Given the description of an element on the screen output the (x, y) to click on. 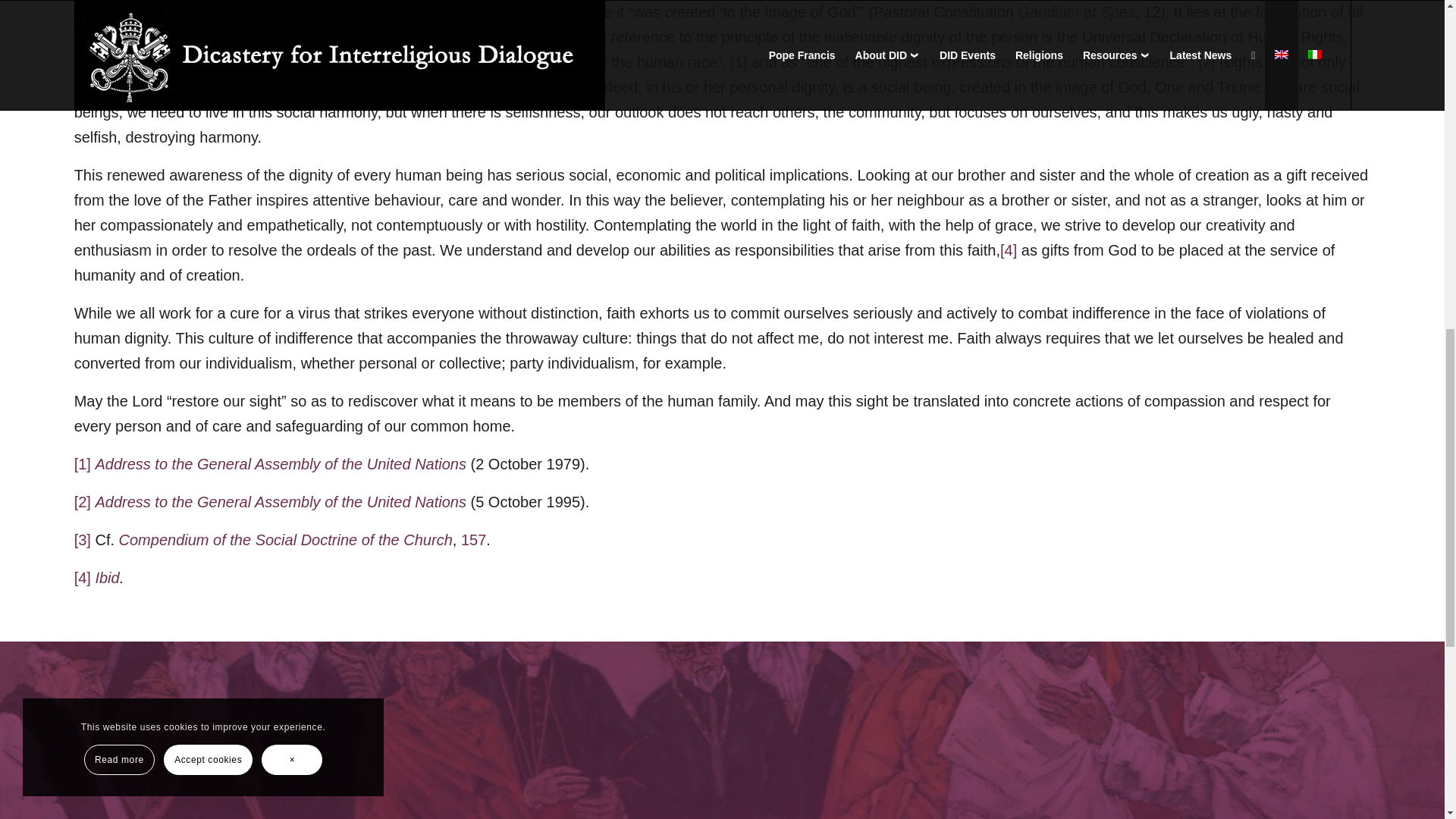
Gaudium et Spes (1076, 12)
Compendium of the Social Doctrine of the Church (285, 539)
Address to the General Assembly of the United Nations (279, 501)
157 (473, 539)
Address to the General Assembly of the United Nations (279, 463)
Ibid (106, 577)
